Given the description of an element on the screen output the (x, y) to click on. 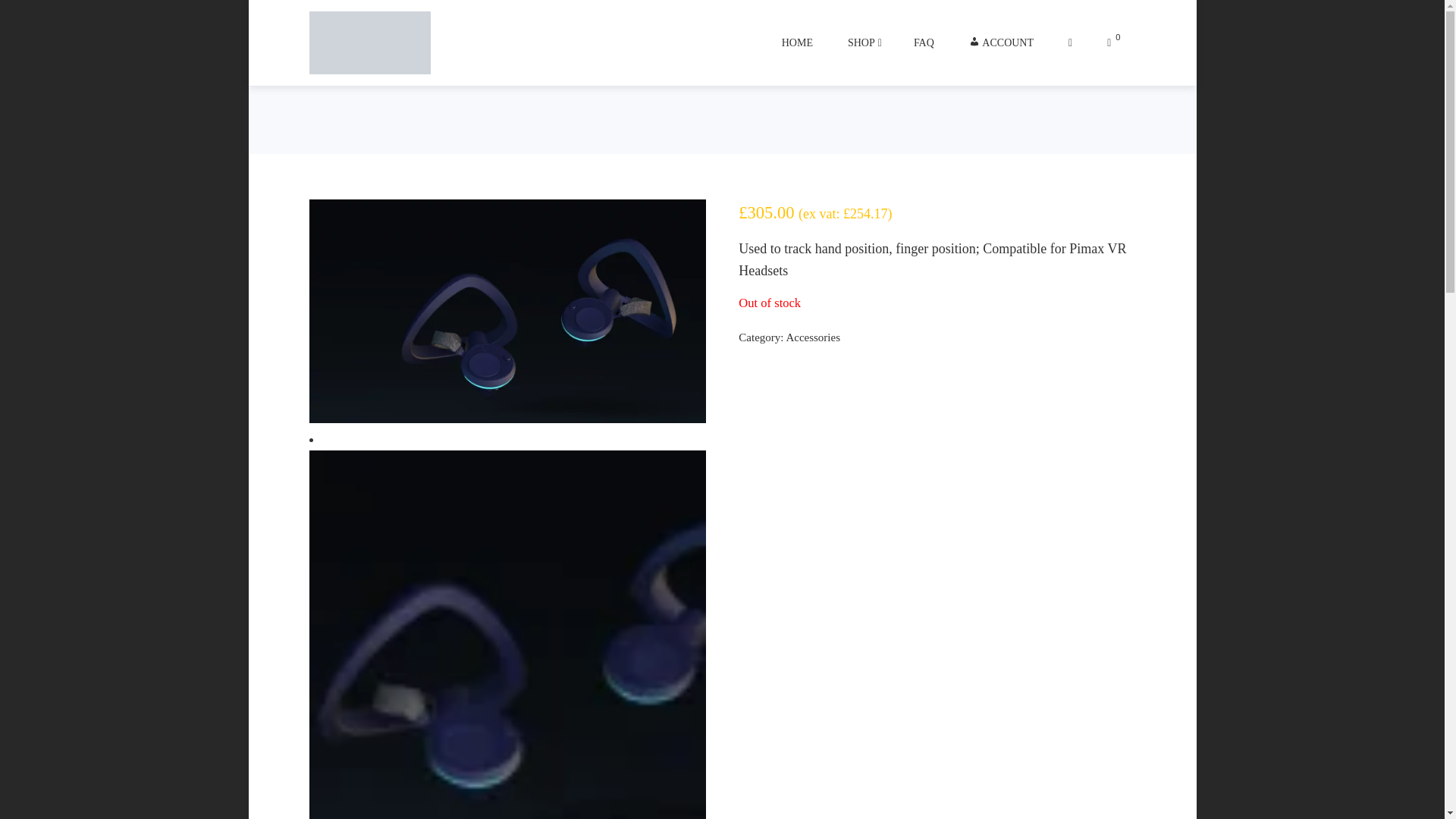
SHOP (862, 42)
View your shopping cart (1113, 42)
ACCOUNT (1000, 42)
0 (1113, 42)
HOME (797, 42)
Accessories (813, 337)
FAQ (923, 42)
